Given the description of an element on the screen output the (x, y) to click on. 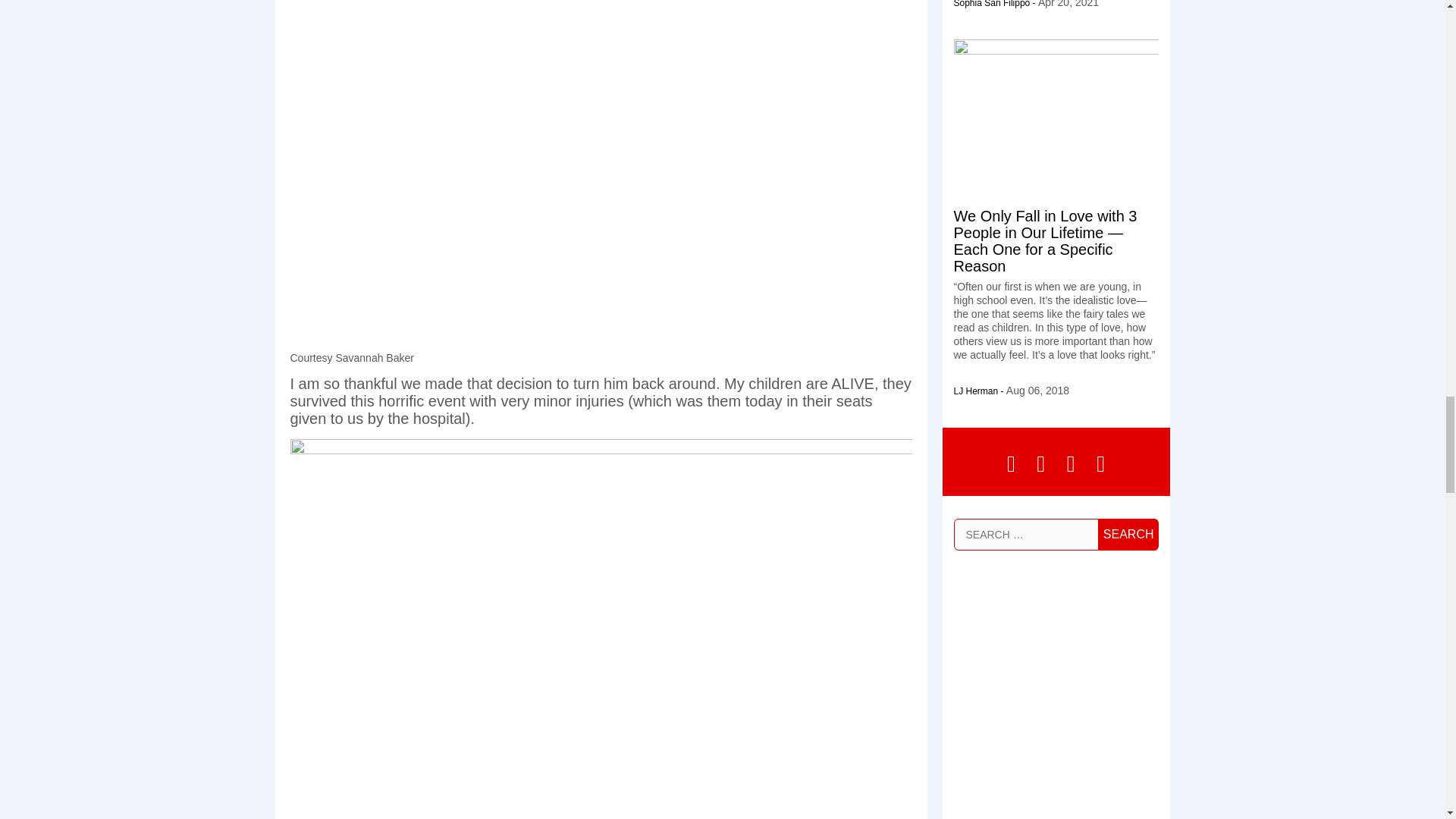
August 6, 2018 (1037, 390)
Search (1128, 534)
Search (1128, 534)
April 20, 2021 (1068, 3)
